Given the description of an element on the screen output the (x, y) to click on. 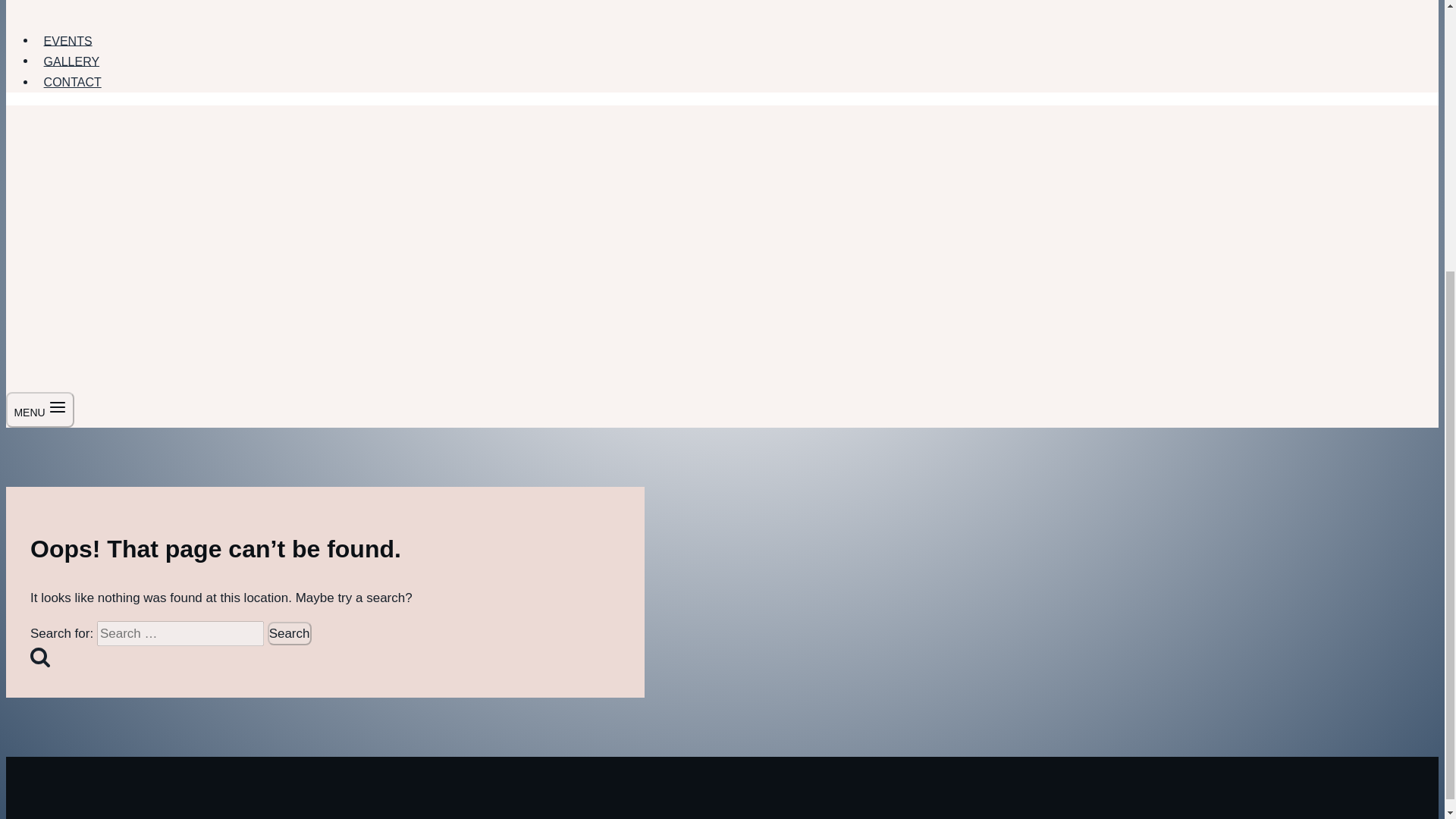
Search (39, 656)
Search (289, 633)
EVENTS (67, 40)
Search (289, 633)
MENU Toggle Menu (39, 409)
GALLERY (71, 61)
Search (289, 633)
Toggle Menu (57, 407)
CONTACT (71, 81)
